Given the description of an element on the screen output the (x, y) to click on. 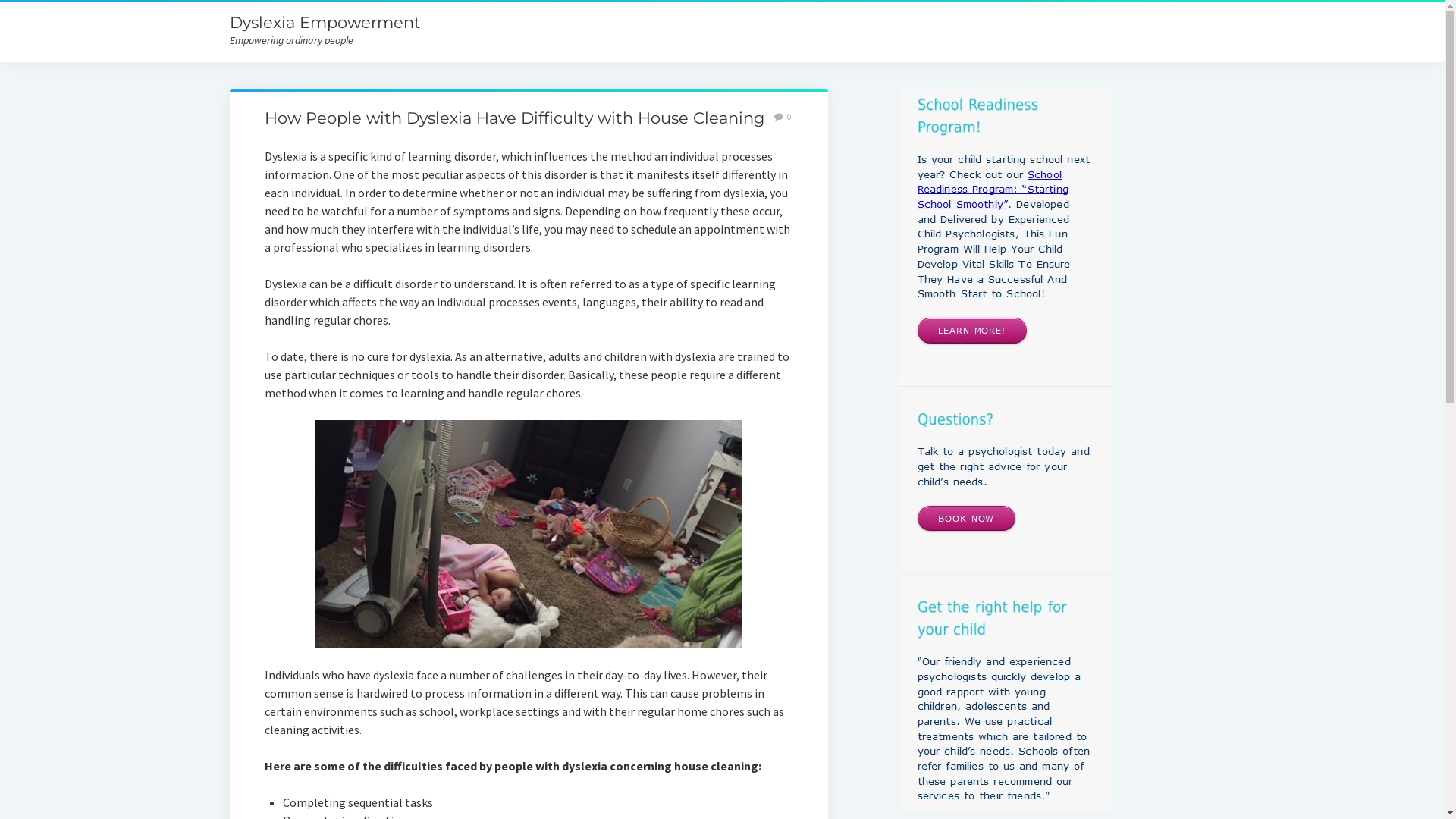
comment icon Element type: hover (778, 116)
0 Element type: text (782, 116)
Dyslexia Empowerment Element type: text (324, 21)
